Given the description of an element on the screen output the (x, y) to click on. 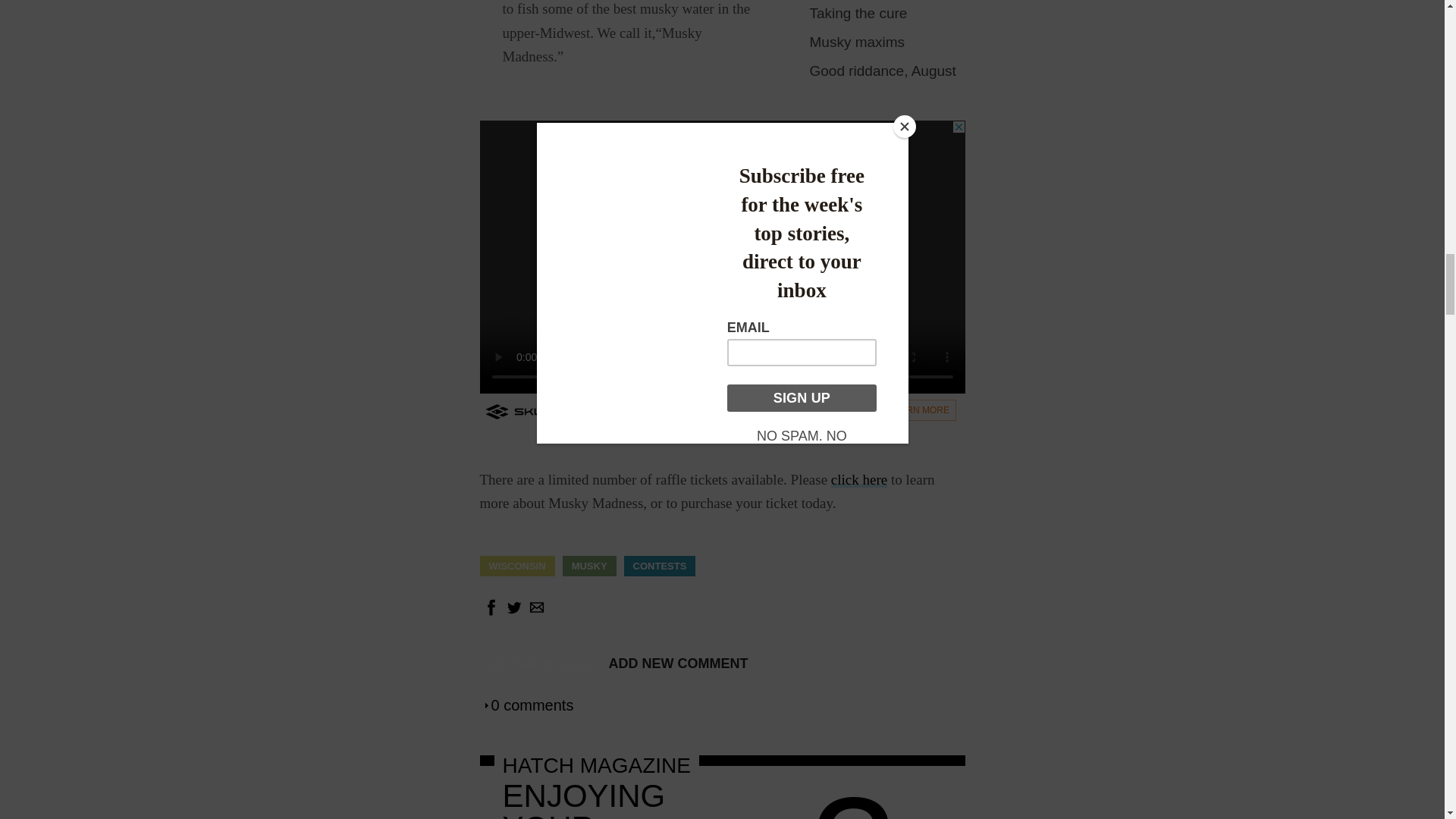
MUSKY (589, 565)
CONTESTS (660, 565)
Email (535, 613)
Share your thoughts and opinions related to this posting. (678, 663)
TODD TANNER'S BLOG (534, 664)
click here (858, 479)
Read Todd Tanner's latest blog entries. (534, 664)
Taking the cure (858, 12)
ADD NEW COMMENT (678, 663)
Good riddance, August (882, 70)
WISCONSIN (515, 565)
Twitter (513, 613)
Facebook (490, 613)
Musky maxims (857, 41)
